Given the description of an element on the screen output the (x, y) to click on. 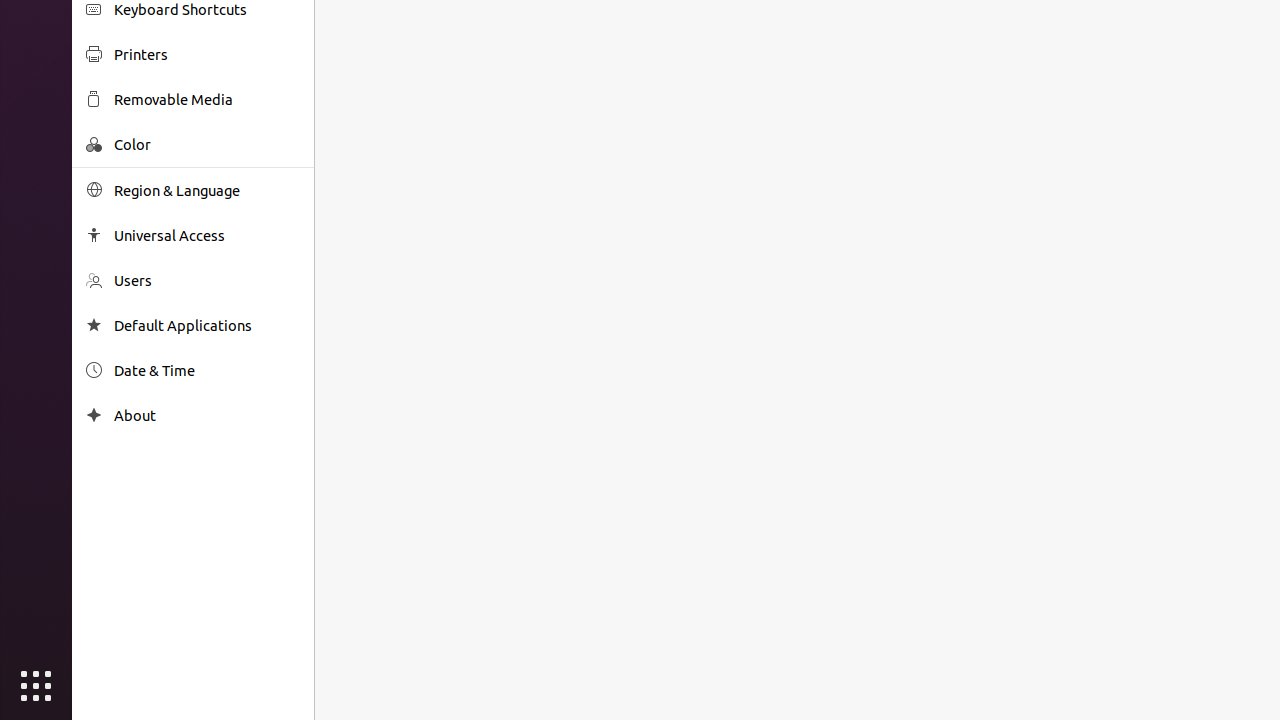
Color Element type: label (207, 144)
Date & Time Element type: label (207, 370)
Default Applications Element type: label (207, 325)
Keyboard Shortcuts Element type: label (207, 9)
